Given the description of an element on the screen output the (x, y) to click on. 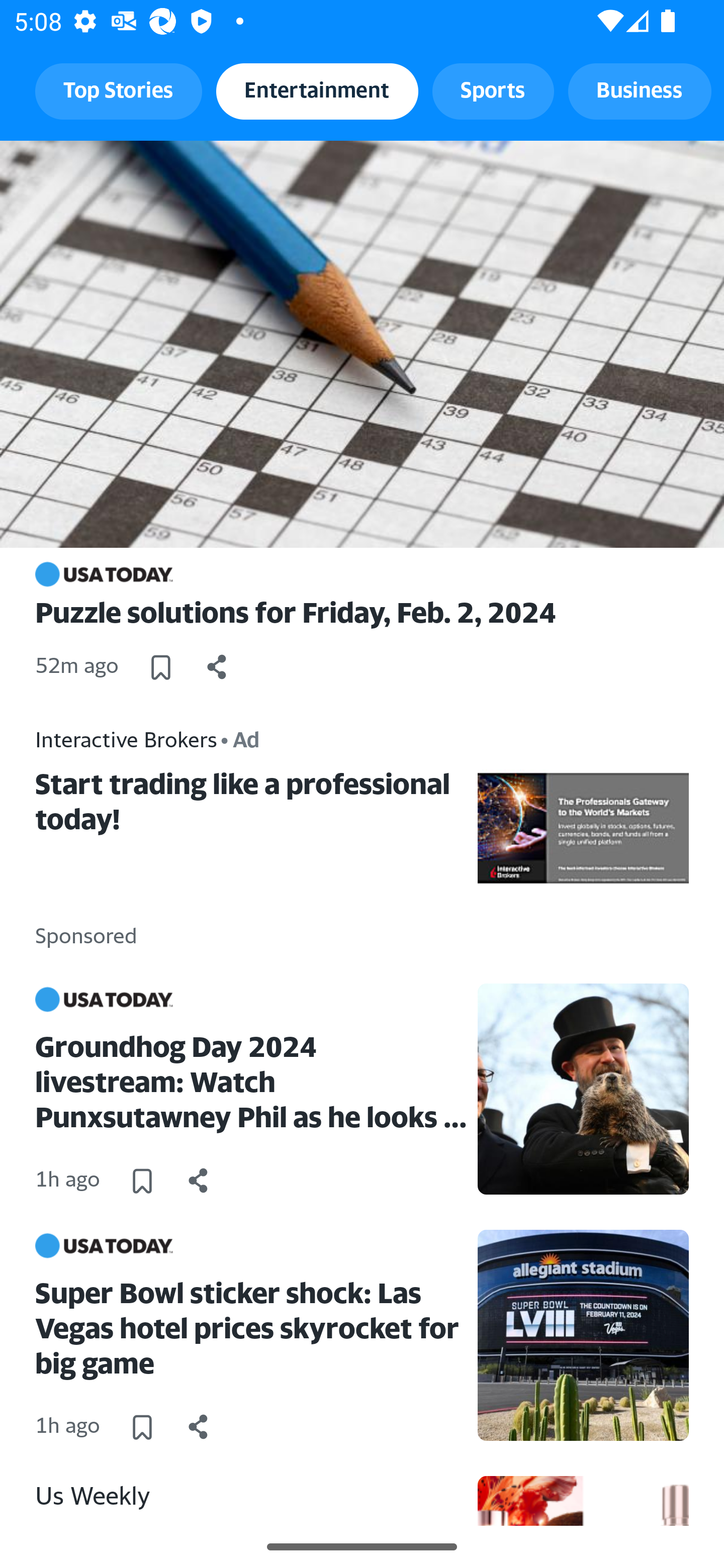
Top Stories (118, 90)
Sports (492, 90)
Business (639, 90)
Save this article (160, 666)
Share this news article (216, 666)
• Ad (240, 738)
Save this article (142, 1180)
Share this news article (198, 1180)
Save this article (142, 1426)
Share this news article (198, 1426)
